Given the description of an element on the screen output the (x, y) to click on. 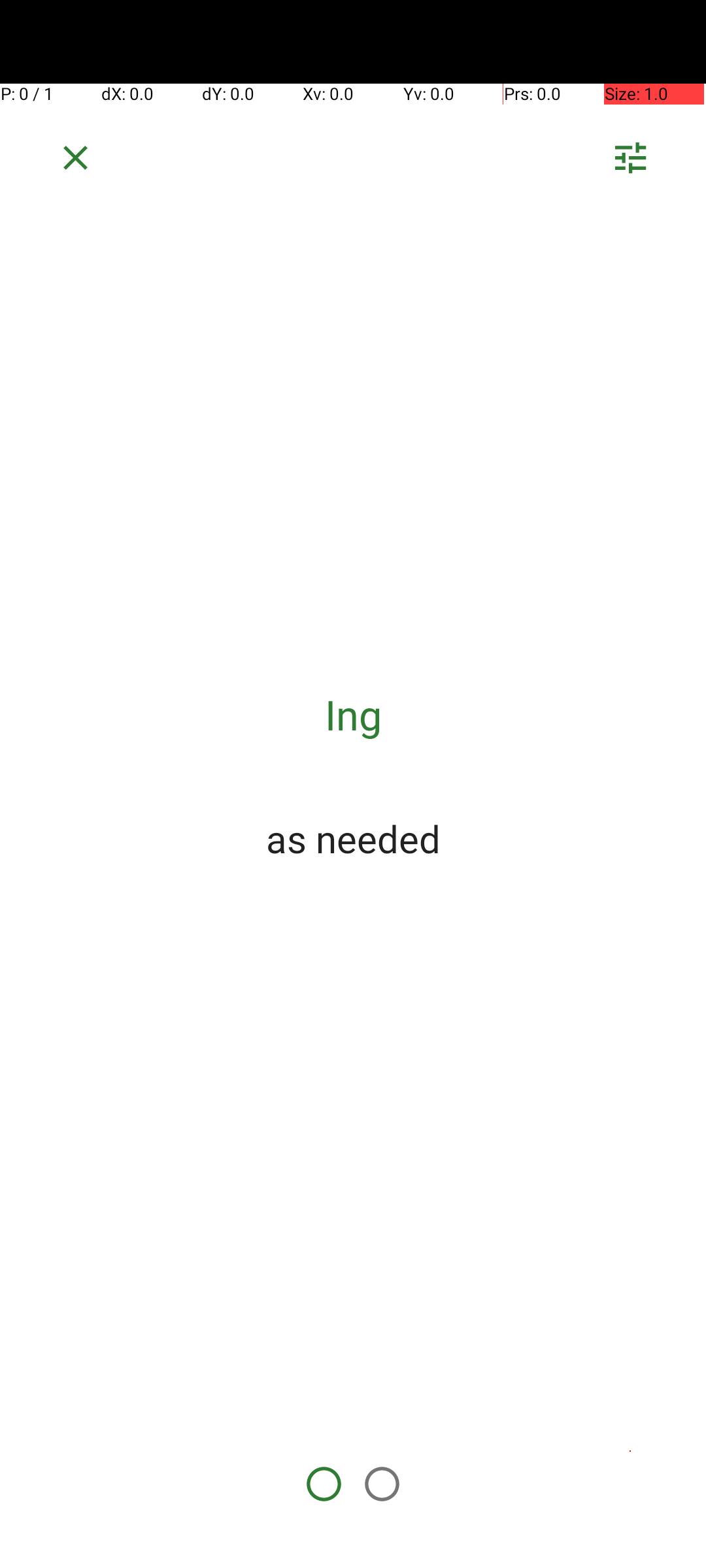
as needed Element type: android.widget.TextView (353, 838)
